Given the description of an element on the screen output the (x, y) to click on. 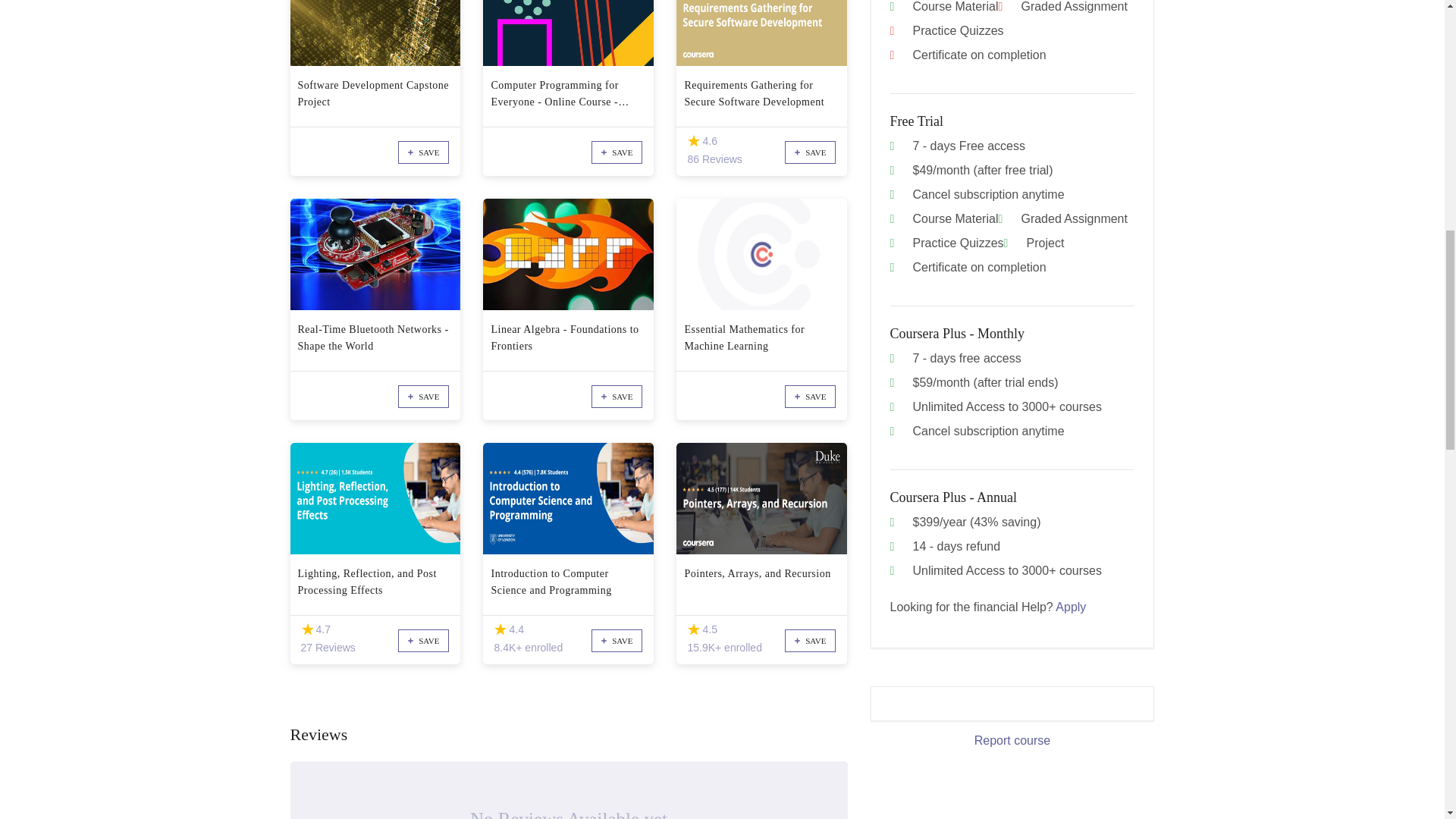
4.4 (499, 629)
4.5 (693, 629)
4.7 (306, 629)
4.6 (693, 141)
